Given the description of an element on the screen output the (x, y) to click on. 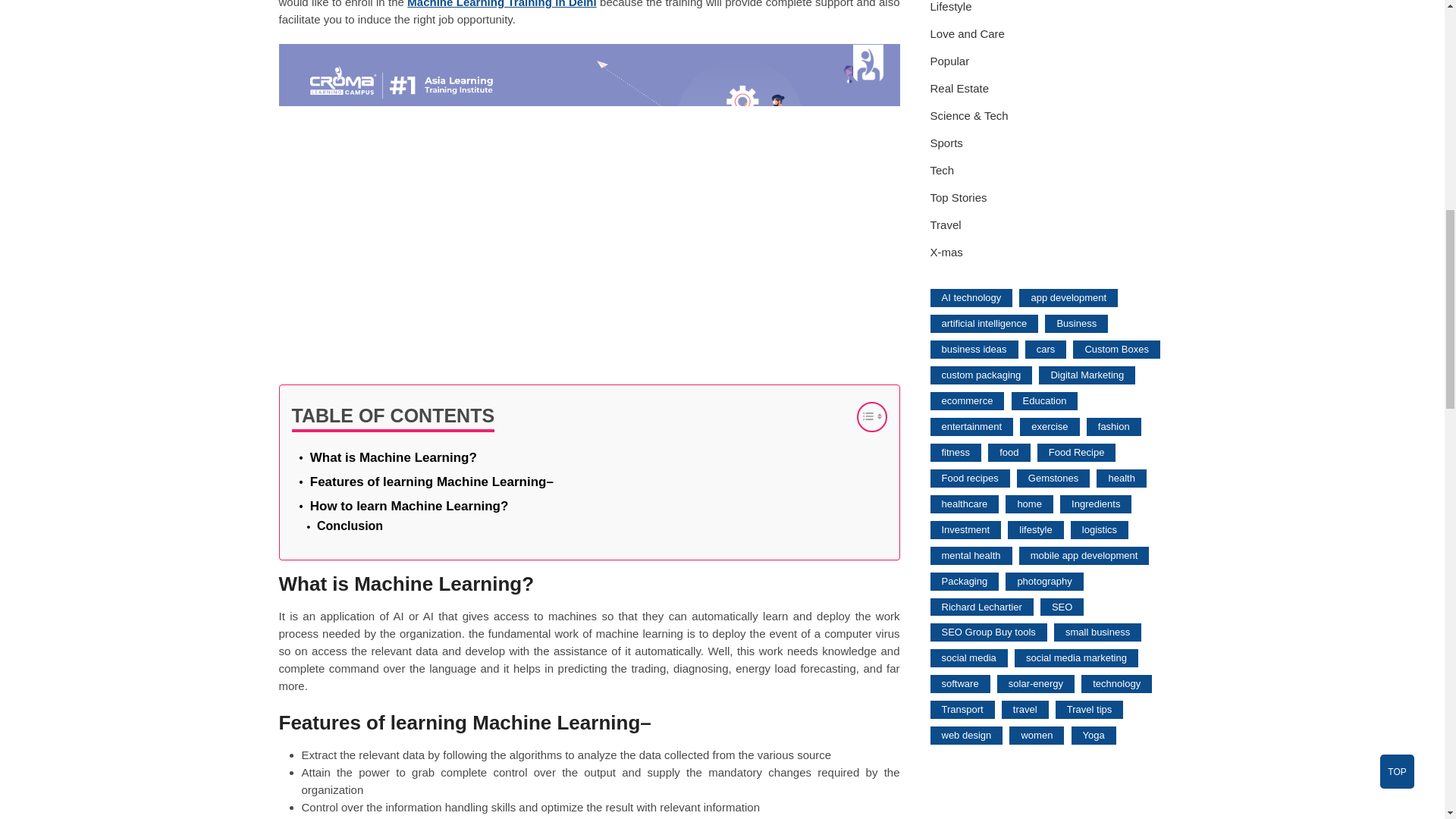
What is Machine Learning? (393, 457)
How to learn Machine Learning? (409, 506)
Conclusion (349, 526)
